Given the description of an element on the screen output the (x, y) to click on. 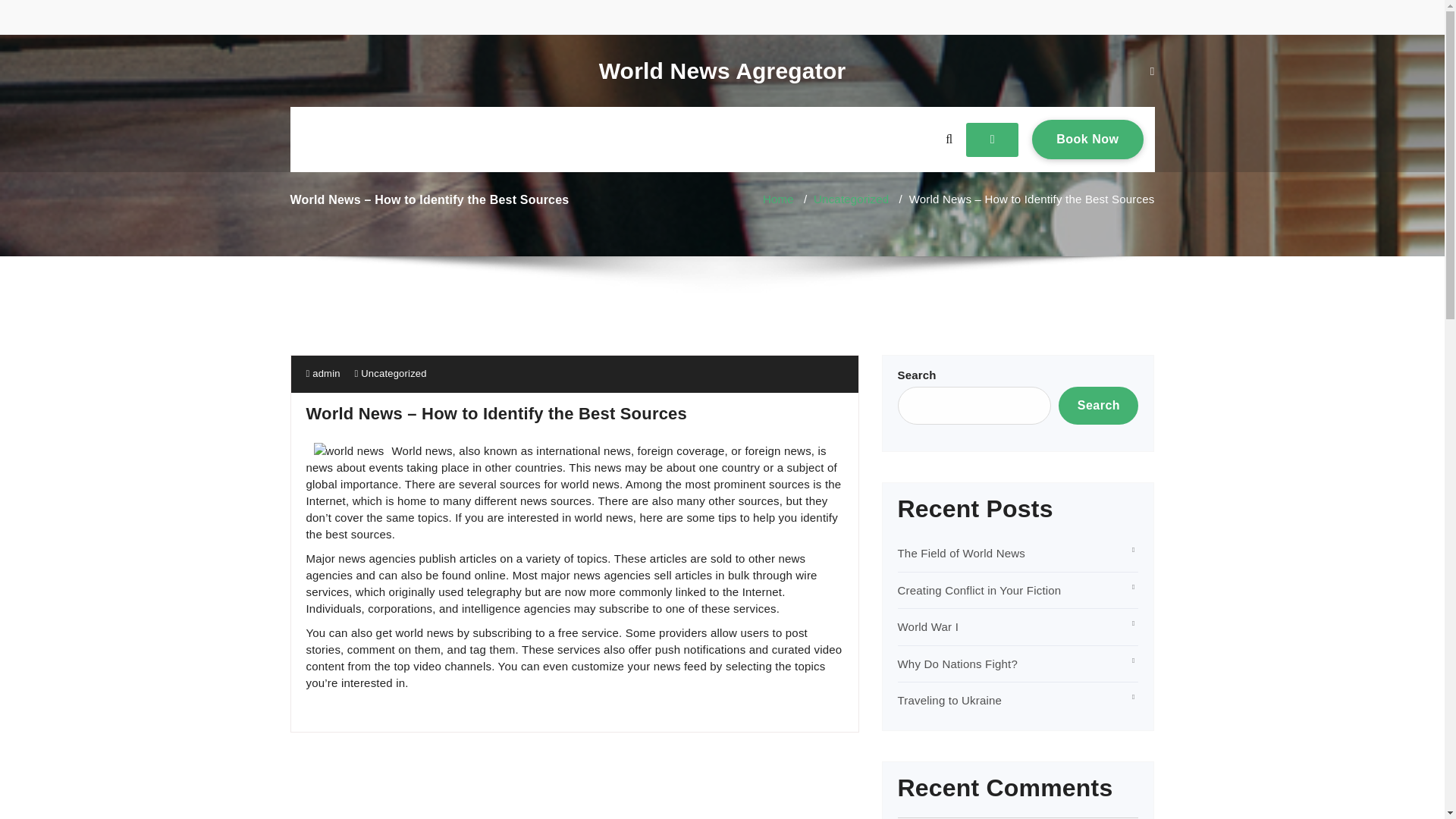
The Field of World News (962, 553)
Uncategorized (850, 198)
Creating Conflict in Your Fiction (979, 590)
Home (777, 198)
Uncategorized (393, 373)
Traveling to Ukraine (950, 699)
Why Do Nations Fight? (1087, 138)
admin (957, 663)
World News Agregator (322, 373)
Search (721, 71)
World War I (1098, 405)
